Given the description of an element on the screen output the (x, y) to click on. 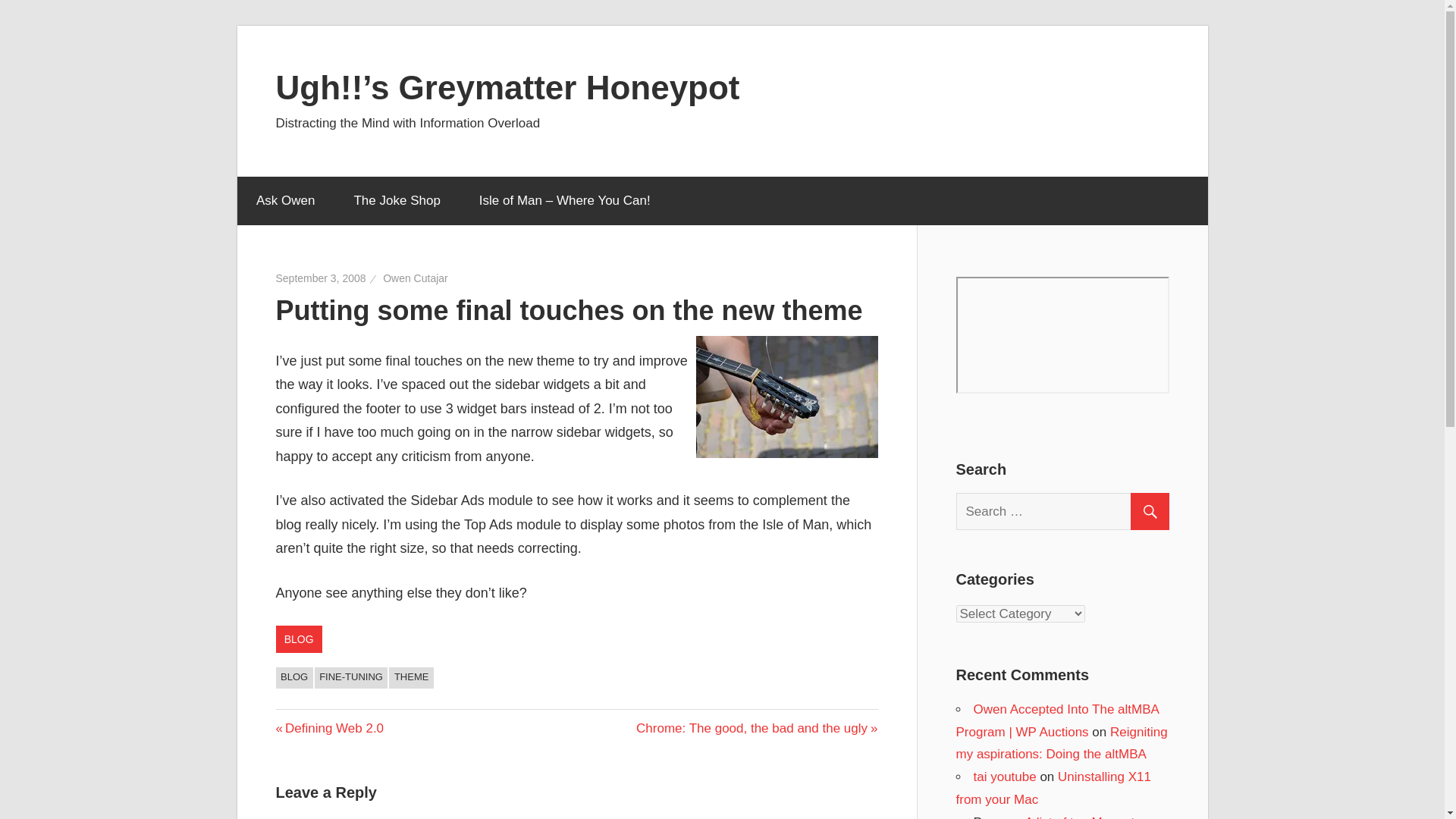
Owen Cutajar (415, 277)
Reigniting my aspirations: Doing the altMBA (1061, 743)
Ask Owen (284, 200)
Skip to content (756, 728)
Search for: (330, 728)
FINE-TUNING (1068, 511)
September 3, 2008 (1005, 776)
